Given the description of an element on the screen output the (x, y) to click on. 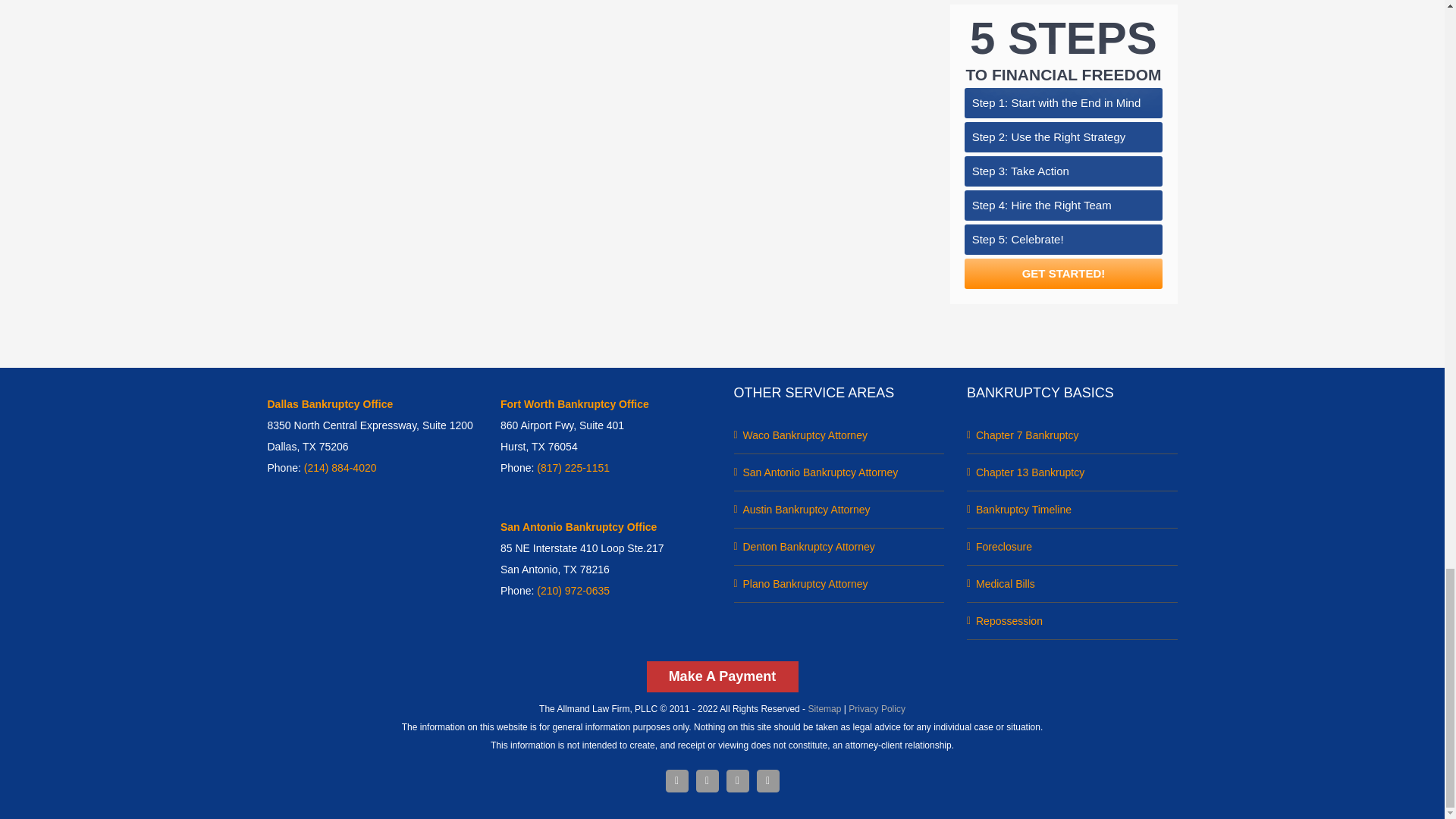
Facebook (676, 780)
LinkedIn (737, 780)
Twitter (707, 780)
YouTube (767, 780)
